Given the description of an element on the screen output the (x, y) to click on. 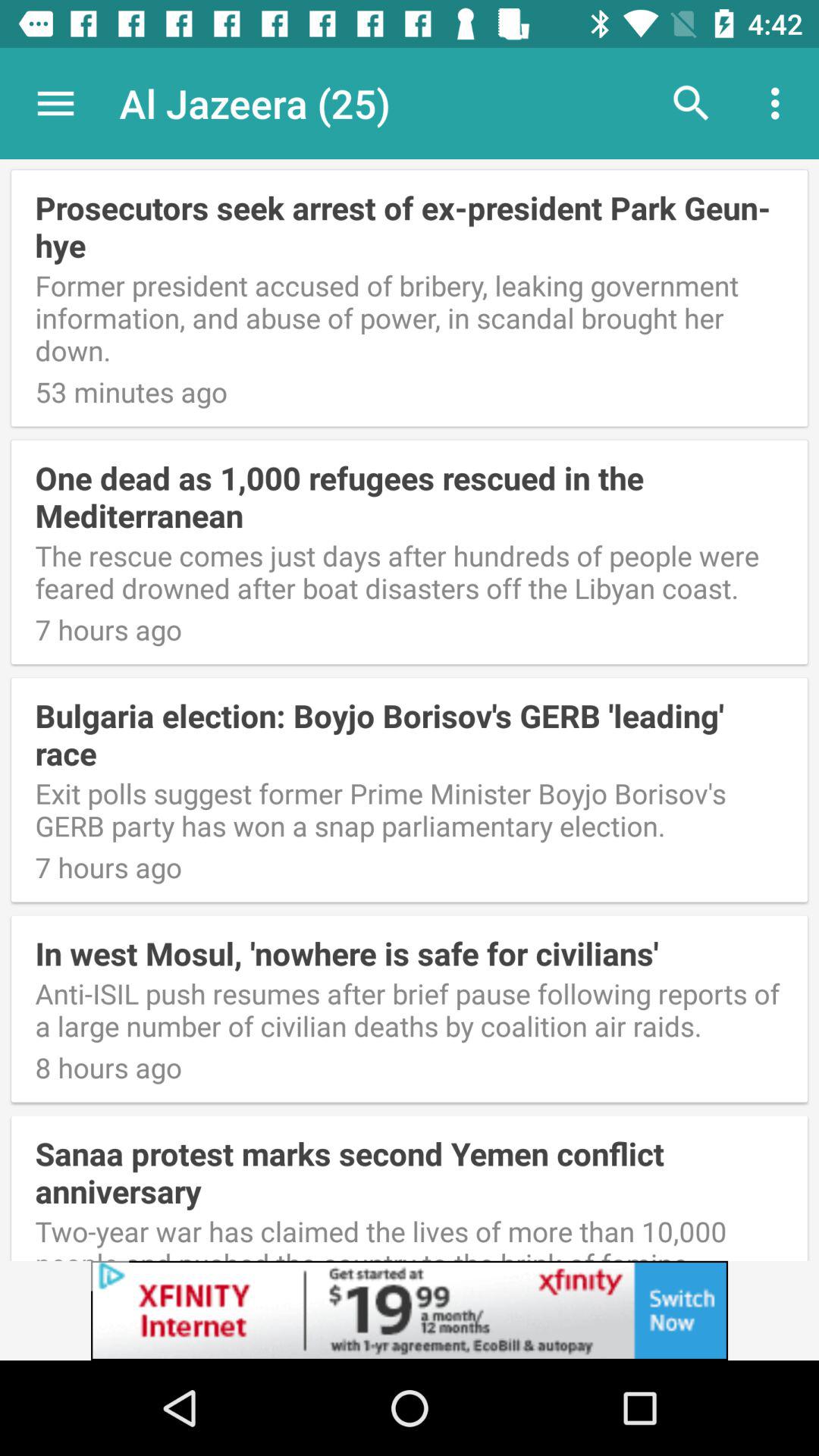
select app next to the al jazeera (25) icon (55, 103)
